Given the description of an element on the screen output the (x, y) to click on. 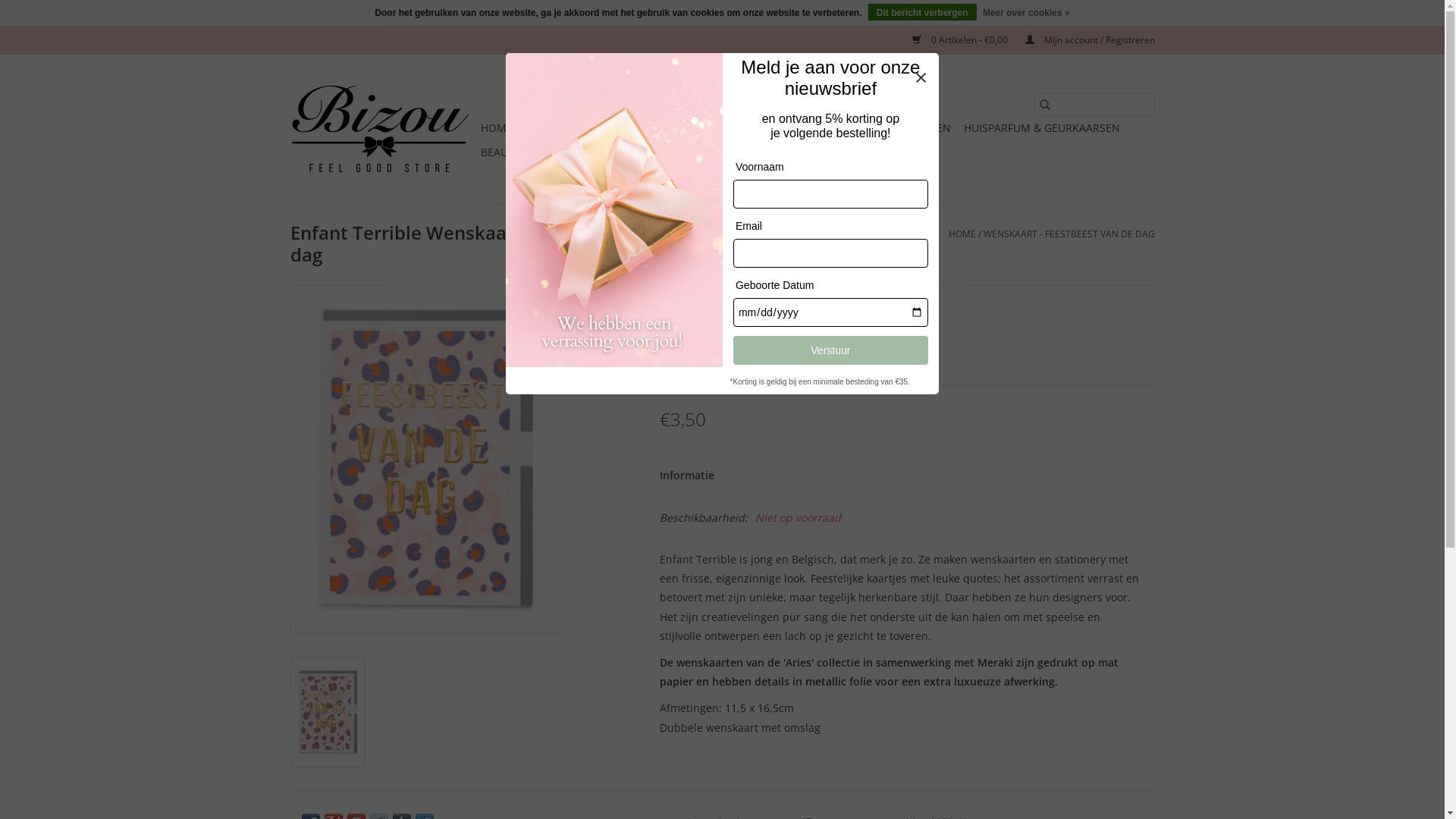
HOME Element type: text (496, 128)
HUISPARFUM & GEURKAARSEN Element type: text (1040, 128)
WENSKAARTEN Element type: text (759, 128)
LOYALTY Element type: text (852, 152)
WENSKAART - FEESTBEEST VAN DE DAG Element type: text (1068, 233)
TAFELEN Element type: text (928, 128)
NIEUW Element type: text (690, 128)
Enfant Terrible Wenskaart - Feestbeest van de dag Element type: hover (328, 711)
Mijn account / Registreren Element type: text (1082, 39)
Zoeken Element type: hover (1043, 104)
Informatie Element type: text (774, 475)
BLACK FRIDAY Element type: text (560, 128)
BEAUTY Element type: text (500, 152)
GIFTS Element type: text (825, 128)
ACCESSOIRES Element type: text (566, 152)
WONEN Element type: text (872, 128)
KERSTMIS Element type: text (635, 128)
HOME Element type: text (961, 233)
MERKEN Element type: text (694, 152)
JUWELEN Element type: text (637, 152)
Stuur mij een email zodra leverbaar Element type: text (792, 355)
CADEAUBONNEN Element type: text (774, 152)
Dit bericht verbergen Element type: text (922, 11)
